Given the description of an element on the screen output the (x, y) to click on. 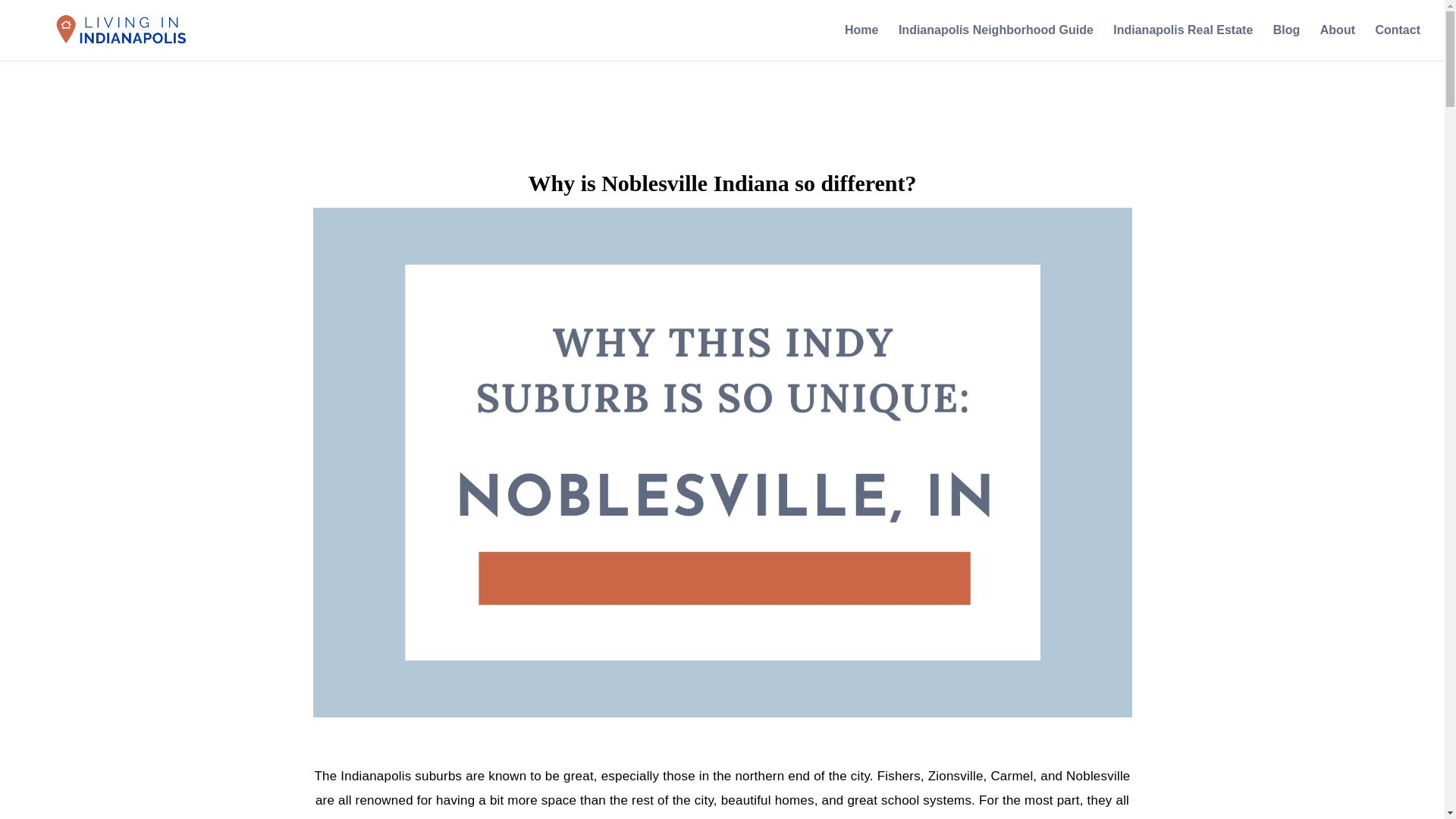
Indianapolis Real Estate (1182, 42)
About (1337, 42)
Indianapolis Neighborhood Guide (995, 42)
Contact (1397, 42)
Home (860, 42)
